Given the description of an element on the screen output the (x, y) to click on. 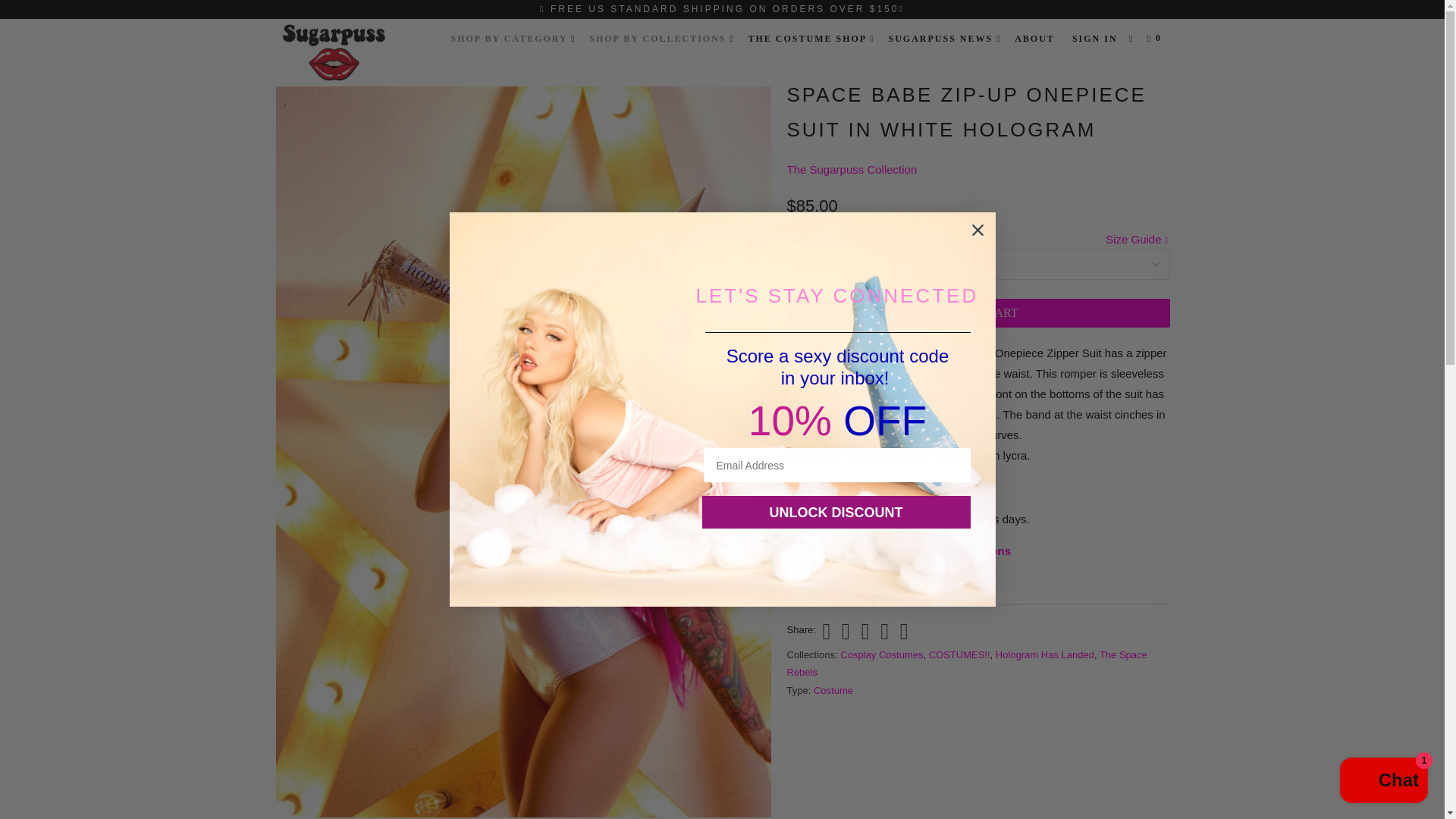
My Account  (1094, 38)
Close dialog 1 (978, 229)
The Sugarpuss Collection (352, 52)
The Sugarpuss Collection (852, 169)
